Given the description of an element on the screen output the (x, y) to click on. 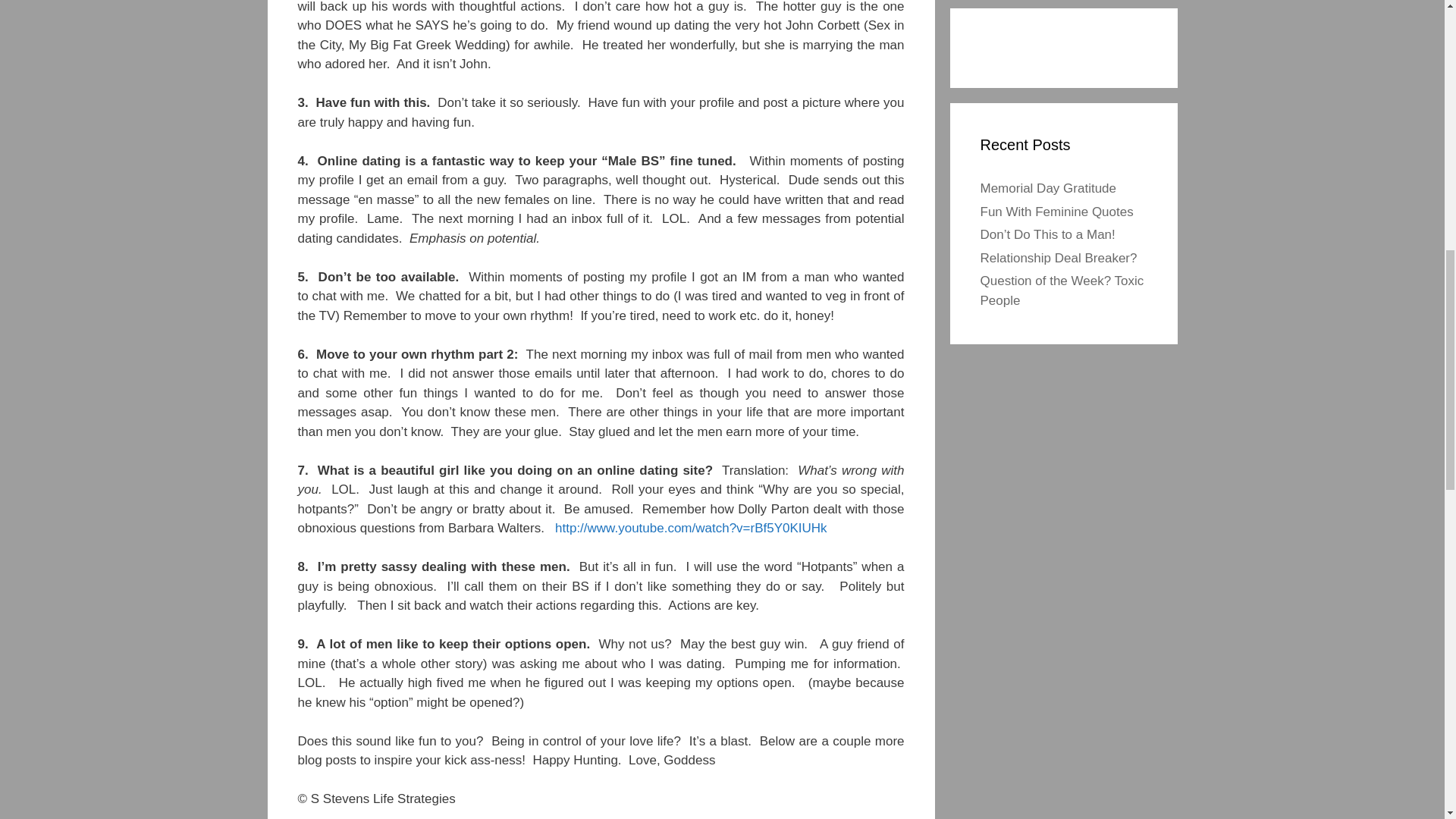
Fun With Feminine Quotes (1055, 211)
Relationship Deal Breaker? (1058, 257)
Memorial Day Gratitude (1047, 187)
Question of the Week? Toxic People (1060, 290)
